Given the description of an element on the screen output the (x, y) to click on. 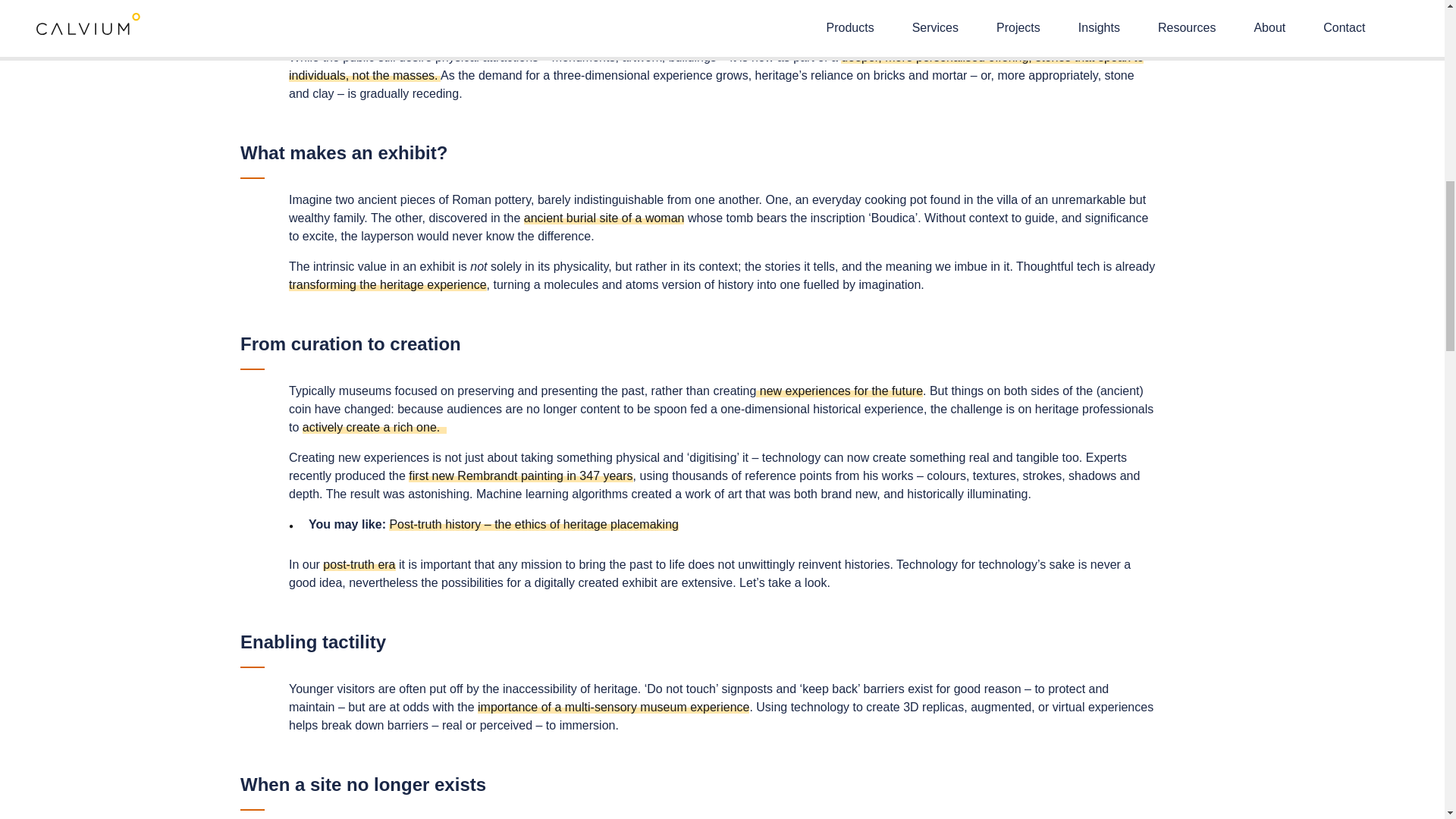
post-truth era (358, 563)
actively create a rich one.   (374, 427)
importance of a multi-sensory museum experience (613, 707)
transforming the heritage experience (387, 284)
ancient burial site of a woman (604, 217)
first new Rembrandt painting in 347 years (520, 475)
new experiences for the future (839, 390)
